Given the description of an element on the screen output the (x, y) to click on. 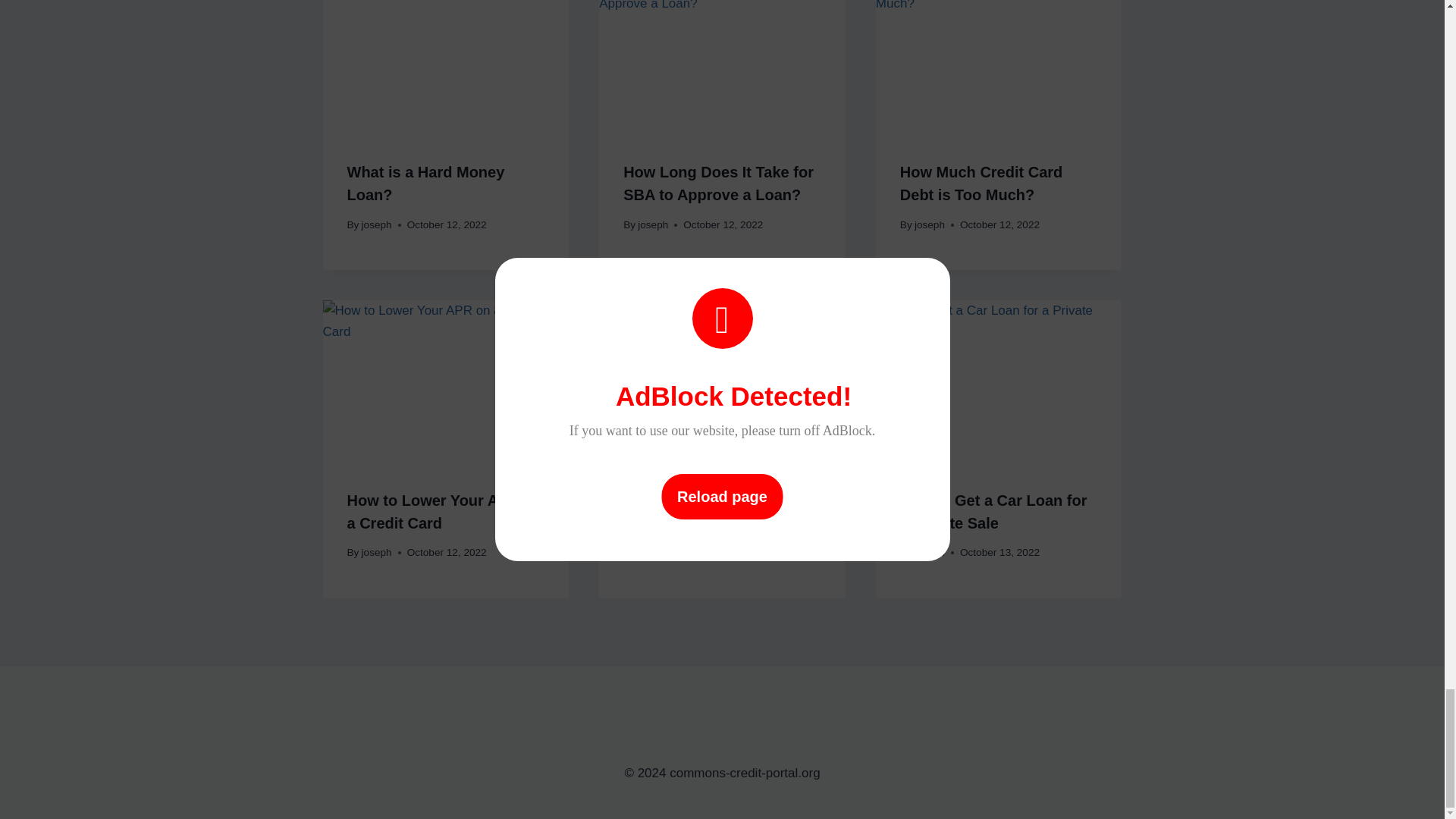
joseph (376, 224)
What is a Hard Money Loan? (426, 183)
How Long Does It Take for SBA to Approve a Loan? (718, 183)
joseph (652, 224)
